Given the description of an element on the screen output the (x, y) to click on. 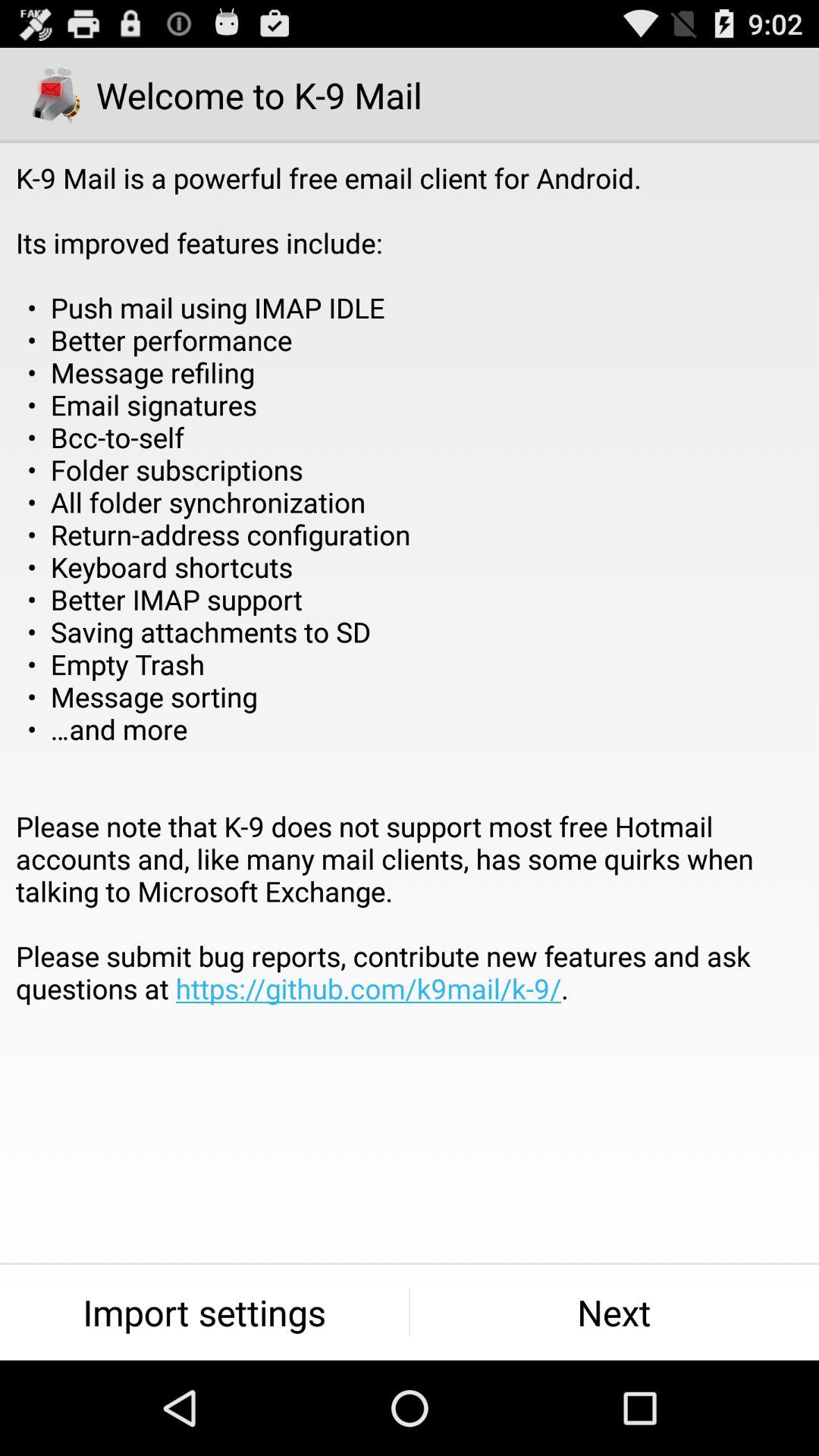
select next item (614, 1312)
